Given the description of an element on the screen output the (x, y) to click on. 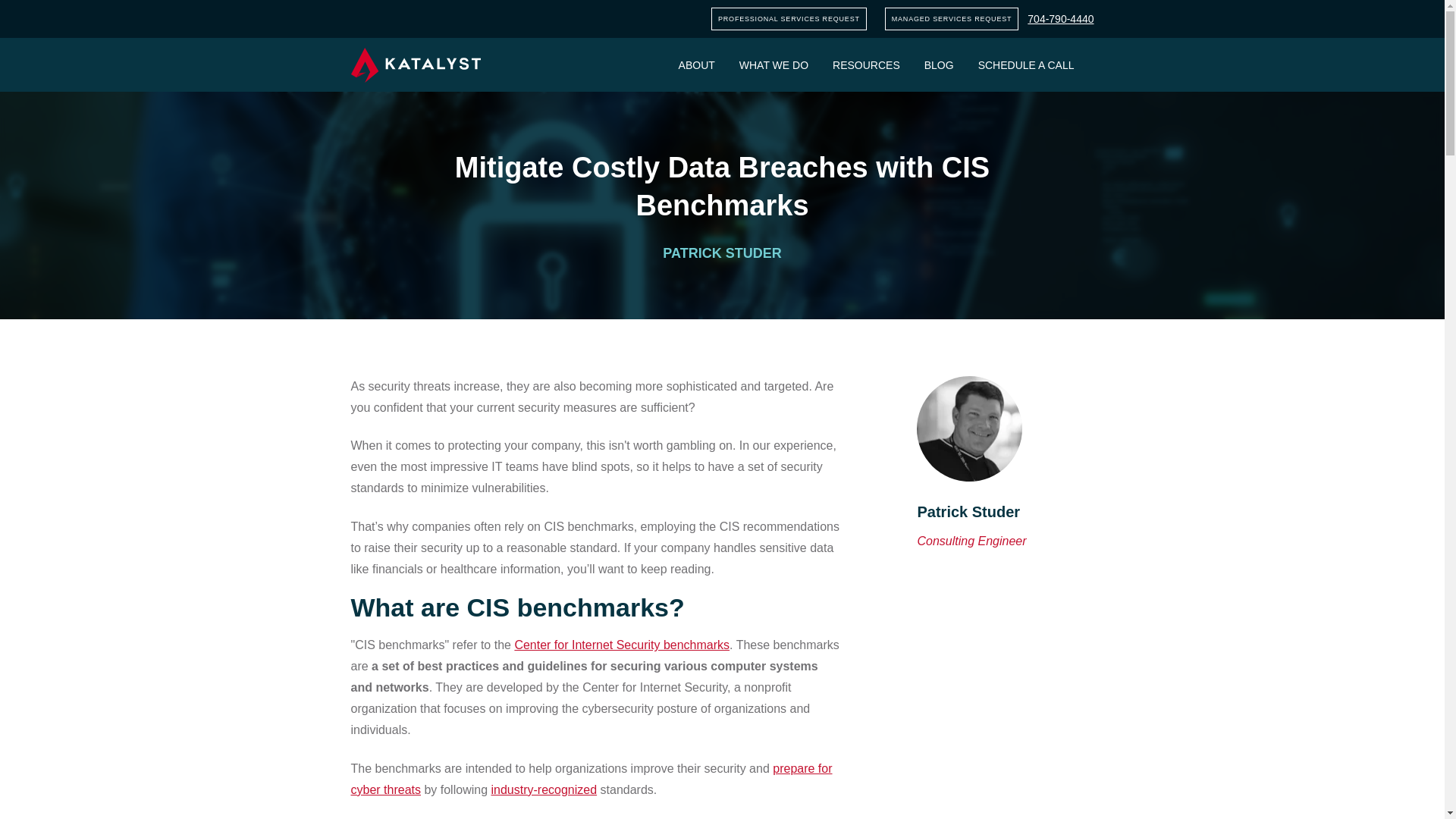
PROFESSIONAL SERVICES REQUEST (788, 18)
prepare for cyber threats (590, 779)
Center for Internet Security benchmarks (621, 644)
BLOG (938, 64)
MANAGED SERVICES REQUEST (952, 18)
SCHEDULE A CALL (1026, 64)
704-790-4440 (1060, 19)
industry-recognized (543, 789)
ABOUT (696, 64)
WHAT WE DO (773, 64)
